Given the description of an element on the screen output the (x, y) to click on. 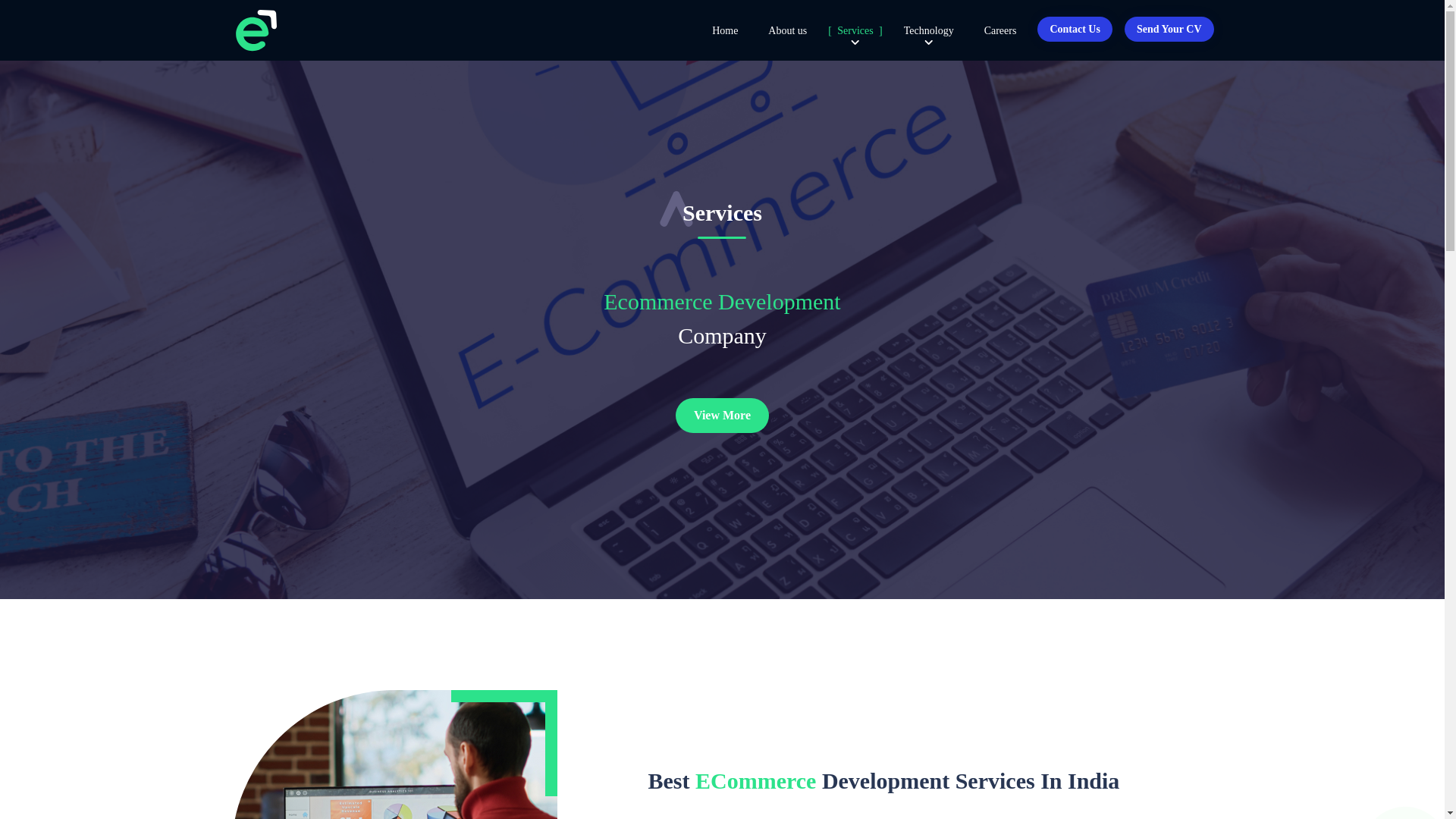
Services (855, 30)
Home (724, 30)
About us (786, 30)
Technology (928, 30)
